Given the description of an element on the screen output the (x, y) to click on. 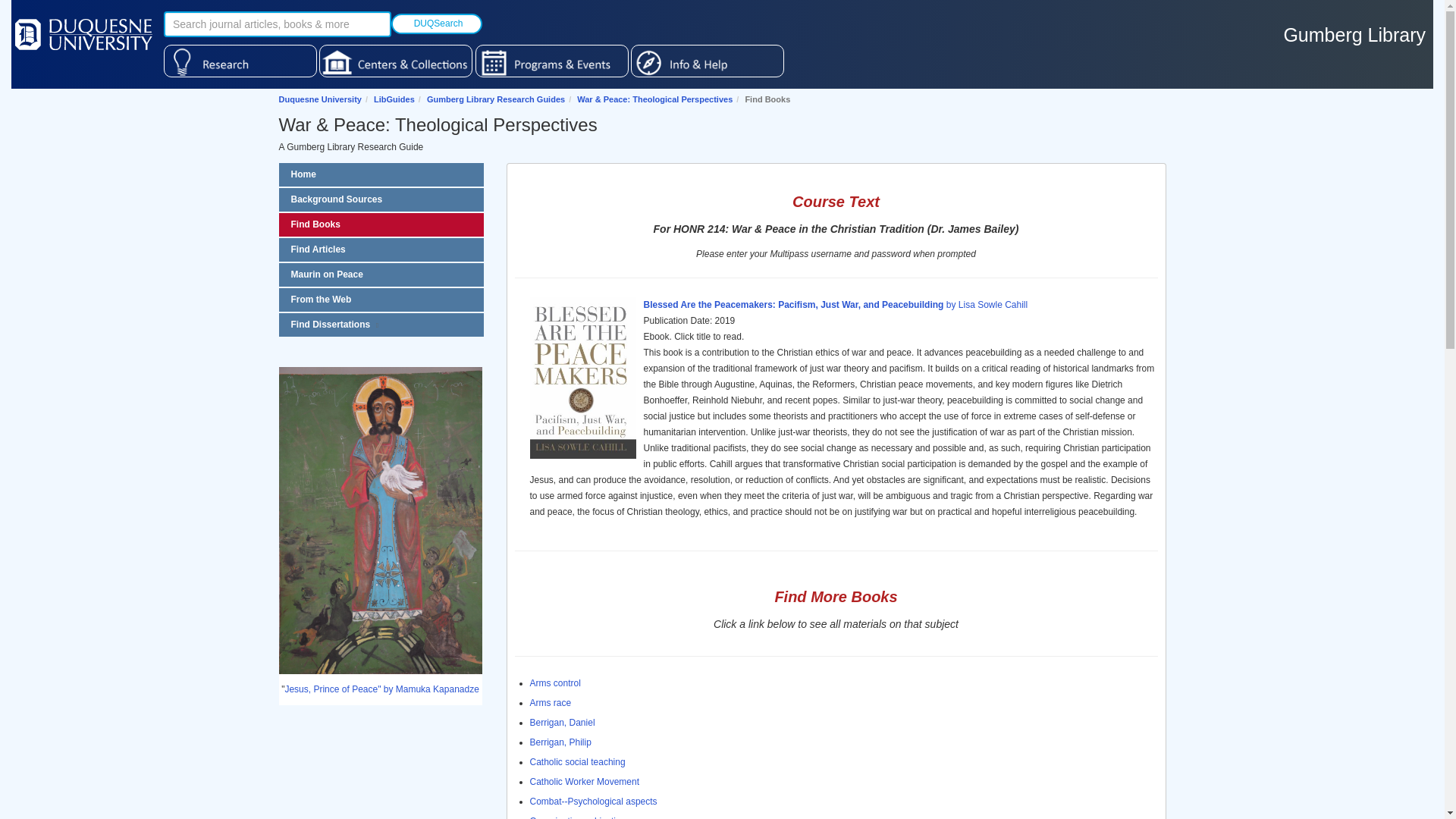
Catholic social teaching (576, 761)
DUQSearch (436, 23)
DUQSearch (436, 23)
Home (381, 174)
LibGuides (394, 99)
Catholic Worker Movement (584, 781)
Berrigan, Philip (560, 742)
Conscientious objection (577, 817)
Find Articles (381, 249)
Gumberg Library (1355, 31)
Jesus, Prince of Peace" by Mamuka Kapanadze (381, 688)
Maurin on Peace (381, 274)
Arms control (554, 683)
DUQSearch (436, 23)
